Given the description of an element on the screen output the (x, y) to click on. 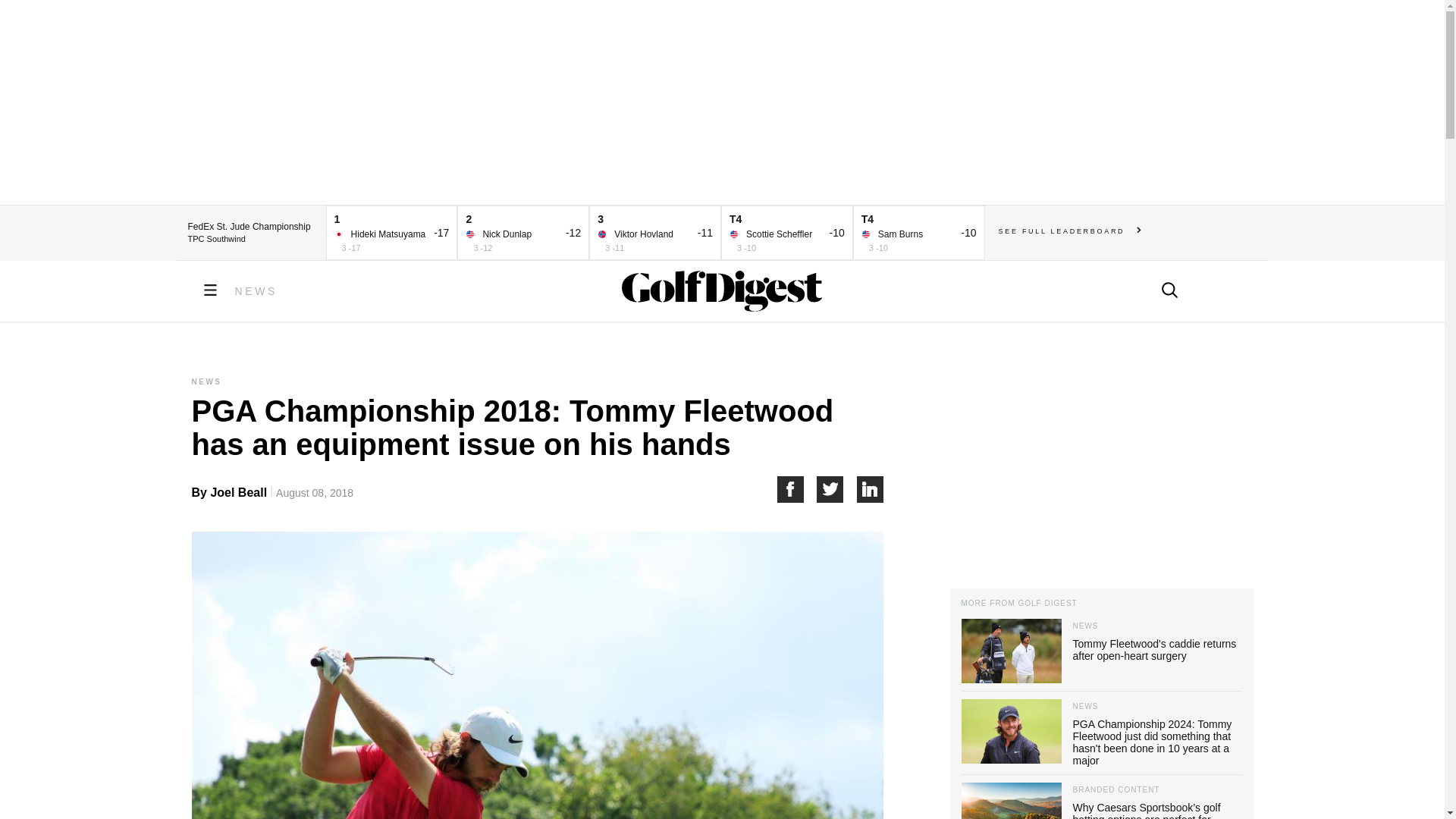
SEE FULL LEADERBOARD (1069, 230)
Share on Twitter (836, 488)
Share on LinkedIn (870, 488)
NEWS (256, 291)
Share on Facebook (796, 488)
